Given the description of an element on the screen output the (x, y) to click on. 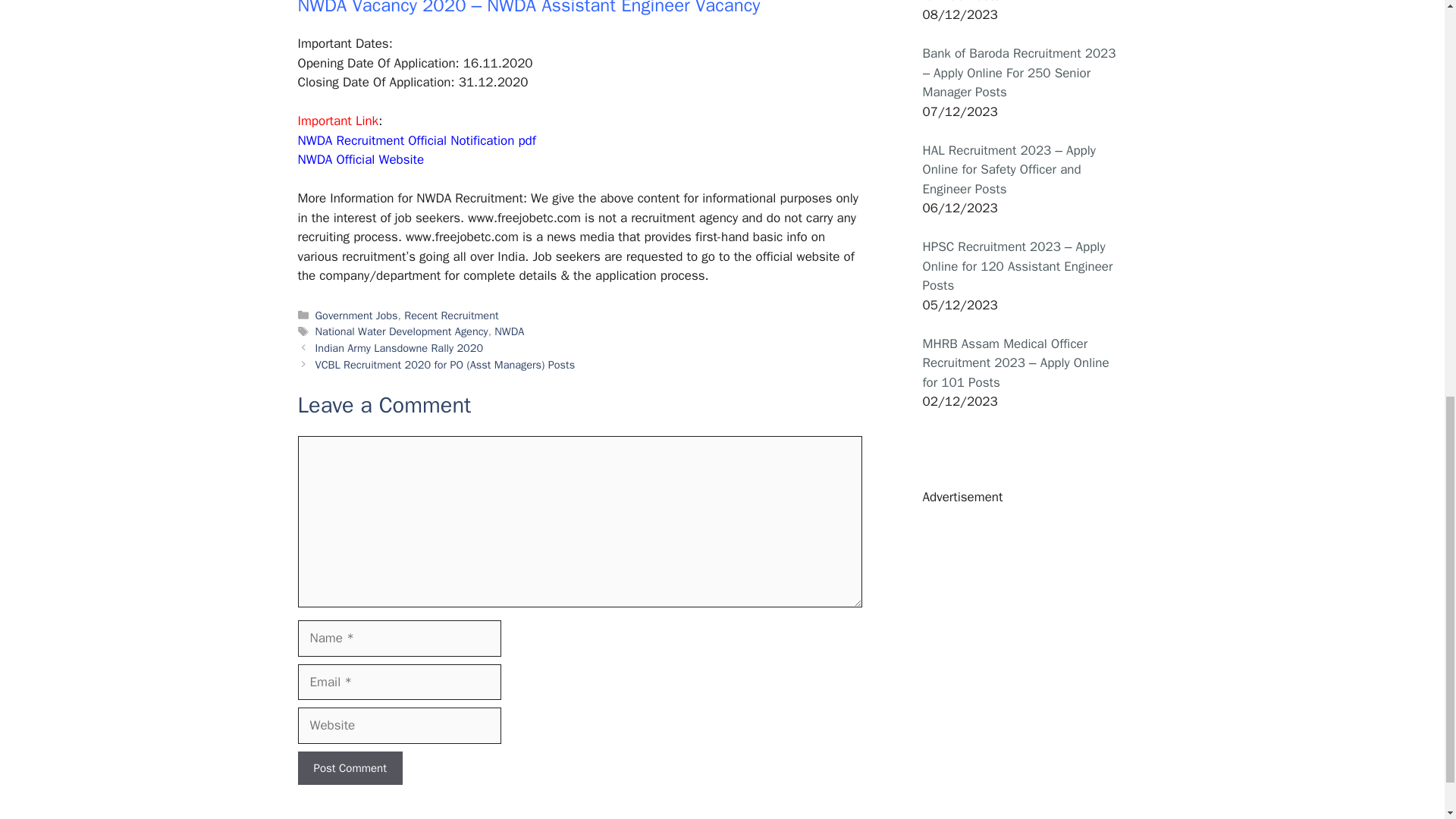
Indian Army Lansdowne Rally 2020 (399, 347)
National Water Development Agency (401, 331)
Government Jobs (356, 315)
Recent Recruitment (450, 315)
Post Comment (349, 767)
NWDA Official Website (360, 159)
NWDA (509, 331)
NWDA Recruitment Official Notification pdf (416, 140)
Scroll back to top (1406, 720)
Post Comment (349, 767)
